Given the description of an element on the screen output the (x, y) to click on. 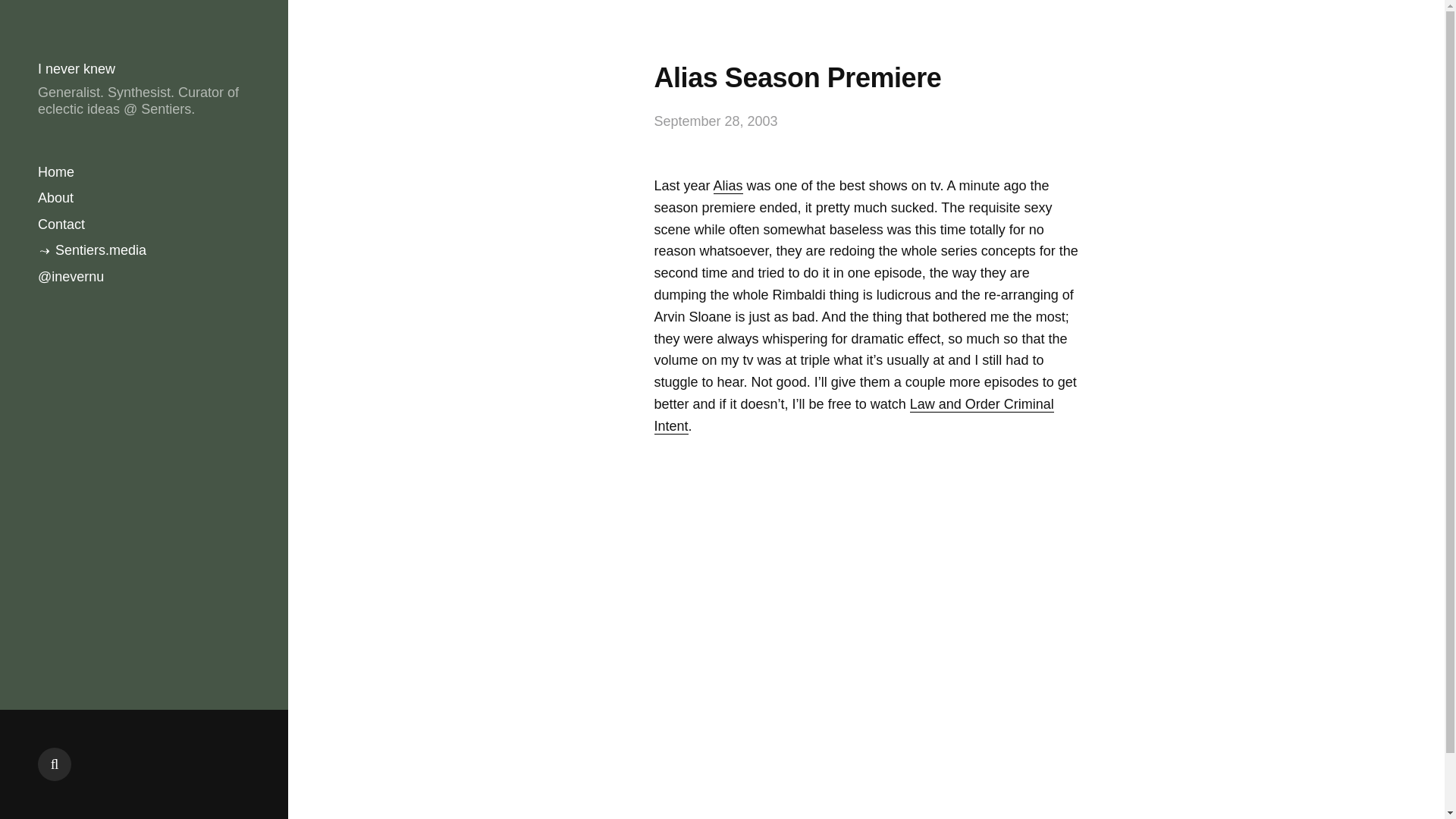
Contact (60, 224)
September 28, 2003 (715, 121)
Alias (727, 186)
Home (55, 171)
Law and Order Criminal Intent (852, 415)
September 28, 2003 10:07 pm (715, 121)
I never knew (76, 68)
About (55, 198)
